Given the description of an element on the screen output the (x, y) to click on. 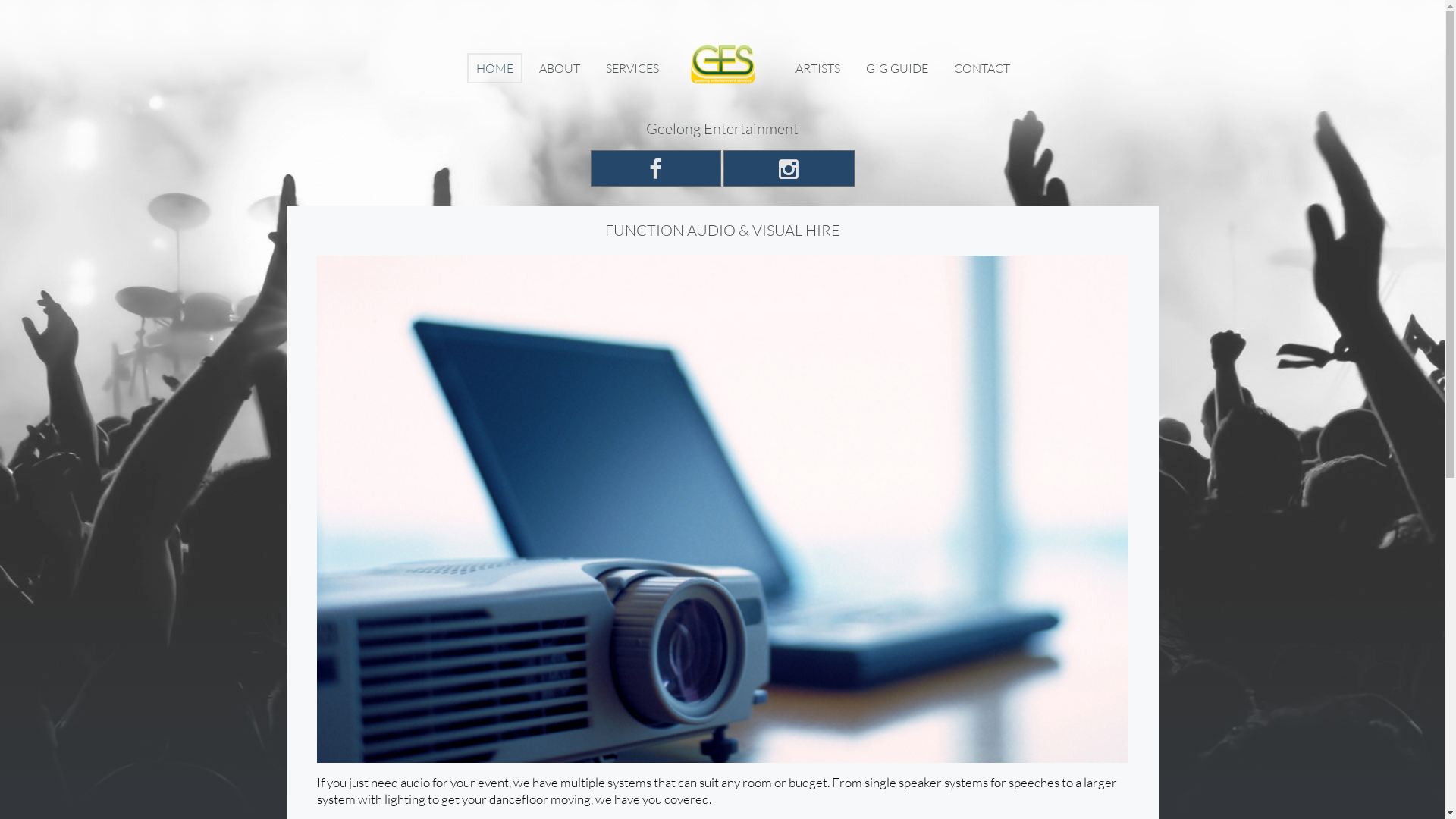
SERVICES Element type: text (632, 68)
ABOUT Element type: text (559, 68)
HOME Element type: text (494, 68)
ARTISTS Element type: text (817, 68)
CONTACT Element type: text (981, 68)
GIG GUIDE Element type: text (896, 68)
